Given the description of an element on the screen output the (x, y) to click on. 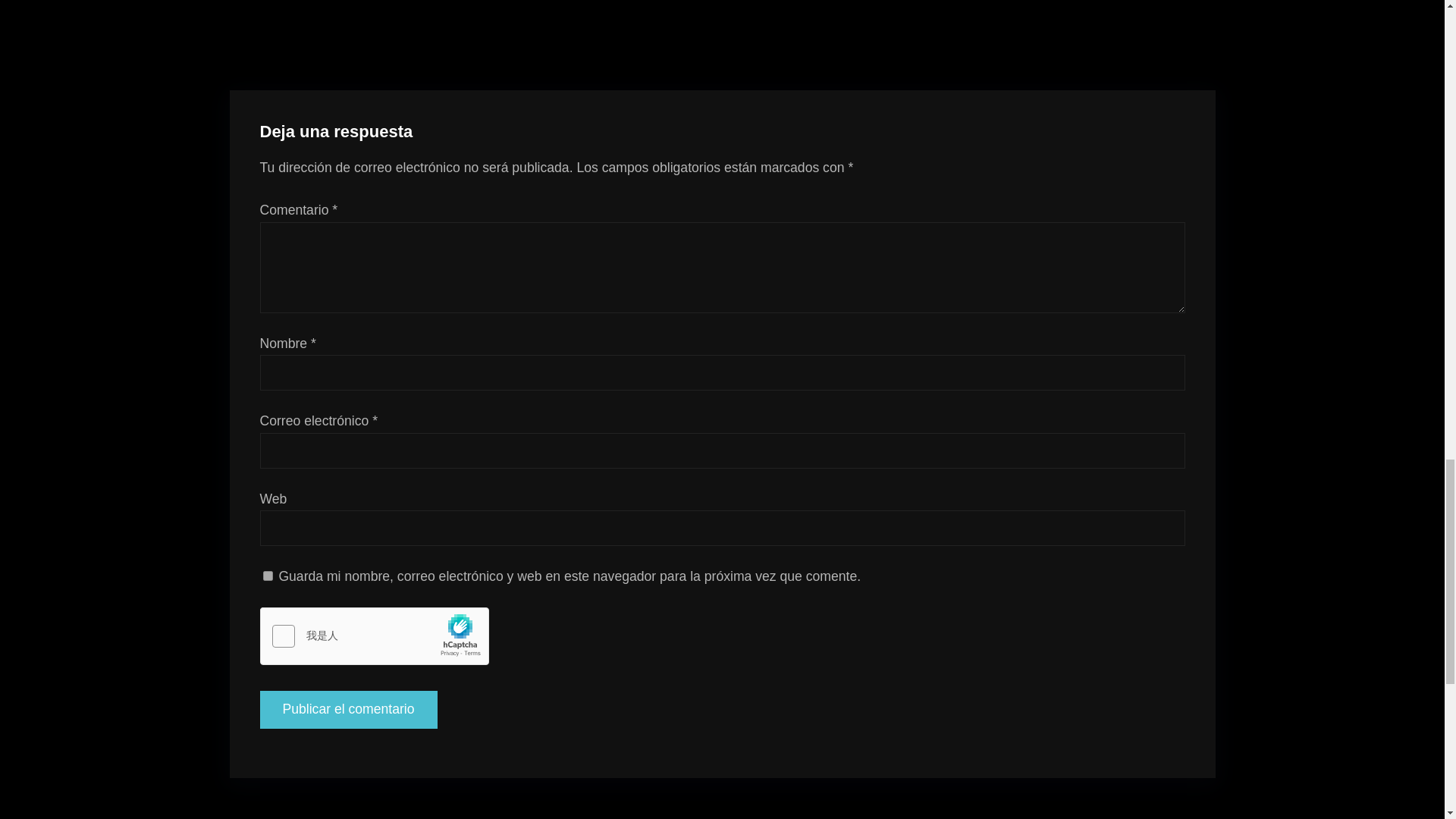
Publicar el comentario (347, 709)
Publicar el comentario (347, 801)
yes (267, 575)
Widget containing checkbox for hCaptcha security challenge (374, 636)
